Given the description of an element on the screen output the (x, y) to click on. 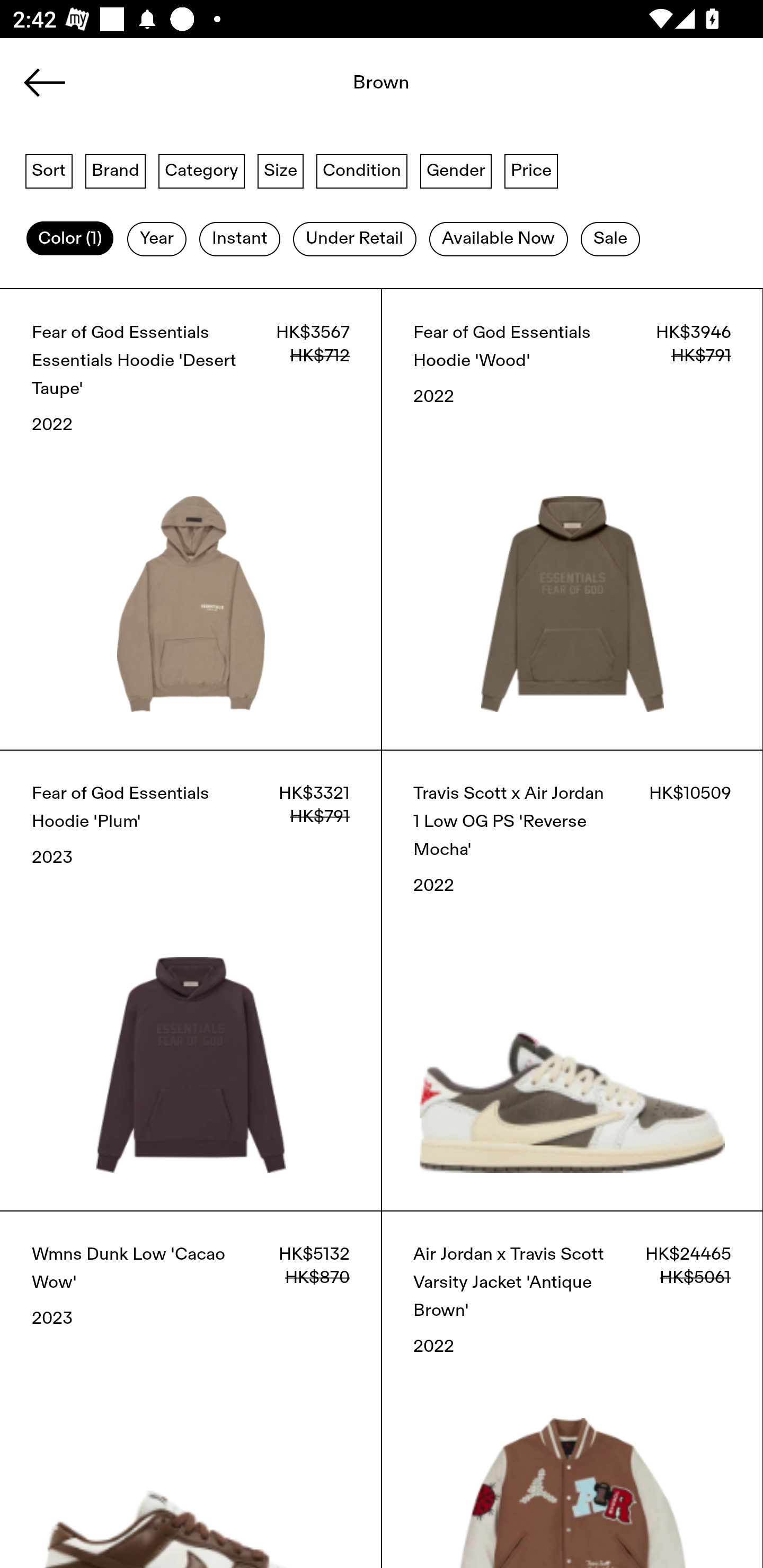
Sort (48, 170)
Brand (115, 170)
Category (201, 170)
Size (280, 170)
Condition (361, 170)
Gender (455, 170)
Price (530, 170)
Color (1) (69, 239)
Year (156, 239)
Instant (239, 239)
Under Retail (354, 239)
Available Now (497, 239)
Sale (610, 239)
Wmns Dunk Low 'Cacao Wow' HK$5132 HK$870 2023 (190, 1389)
